Given the description of an element on the screen output the (x, y) to click on. 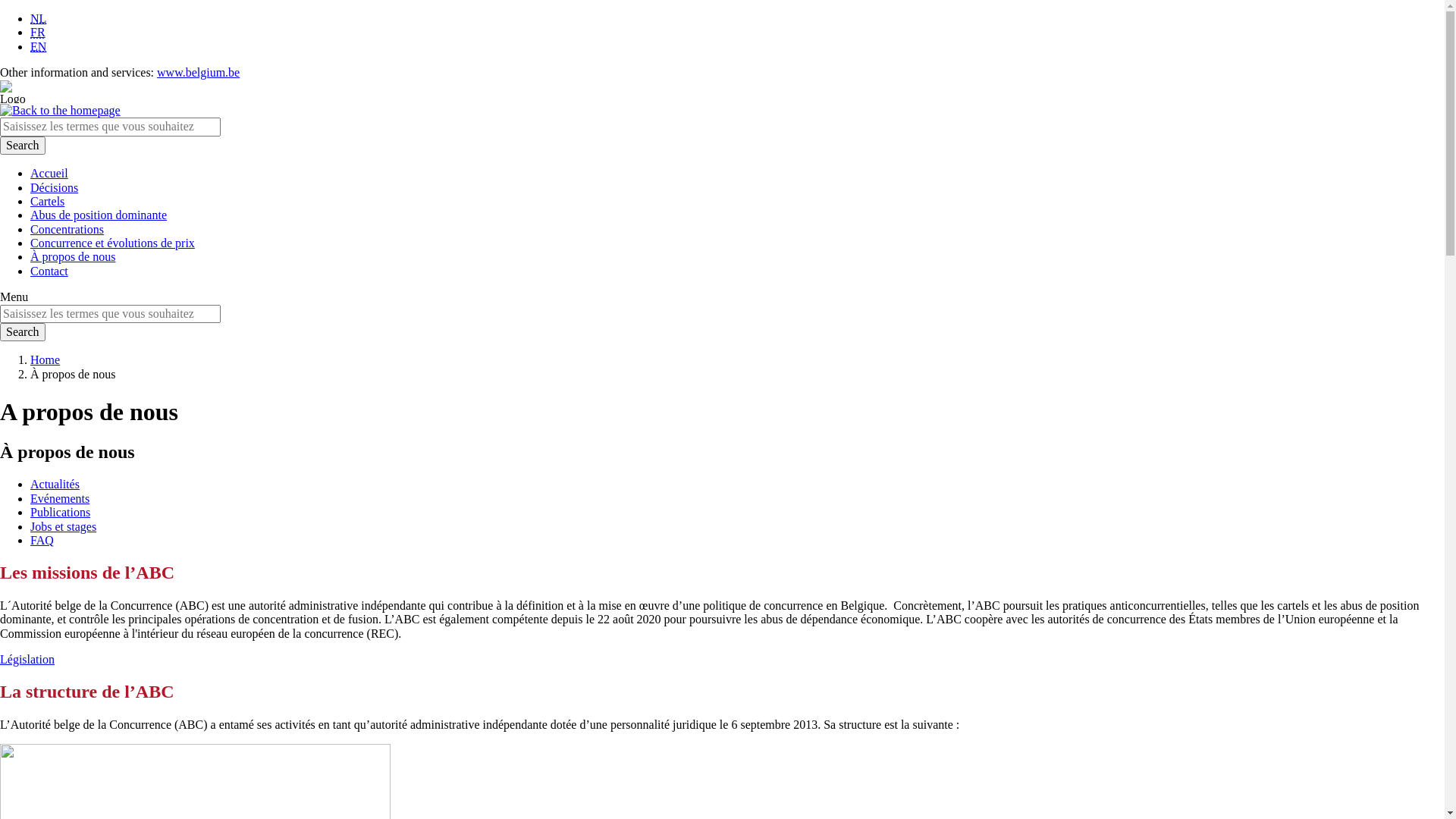
Home Element type: text (44, 359)
Cartels Element type: text (47, 200)
Back to the homepage Element type: hover (60, 109)
FAQ Element type: text (41, 539)
www.belgium.be Element type: text (197, 71)
Concentrations Element type: text (66, 228)
Contact Element type: text (49, 270)
Search Element type: text (22, 145)
NL Element type: text (38, 18)
FR Element type: text (37, 31)
Jobs et stages Element type: text (63, 526)
Search Element type: text (22, 332)
Abus de position dominante Element type: text (98, 214)
Publications Element type: text (60, 511)
Accueil Element type: text (49, 172)
EN Element type: text (38, 46)
Skip to main content Element type: text (7, 16)
